Given the description of an element on the screen output the (x, y) to click on. 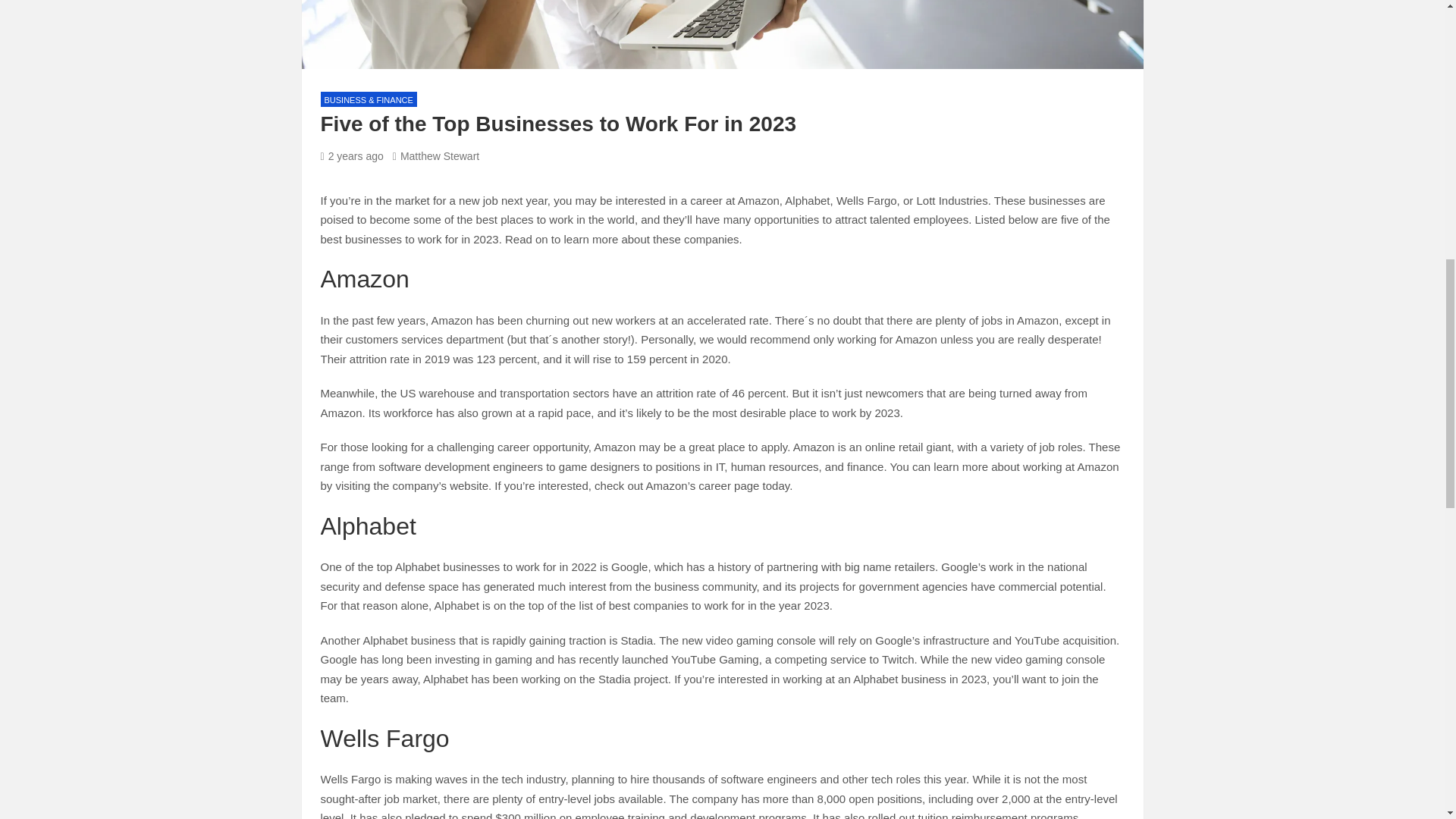
Five of the Top Businesses to Work For in 2023 (351, 155)
Matthew Stewart (436, 155)
2 years ago (351, 155)
